Given the description of an element on the screen output the (x, y) to click on. 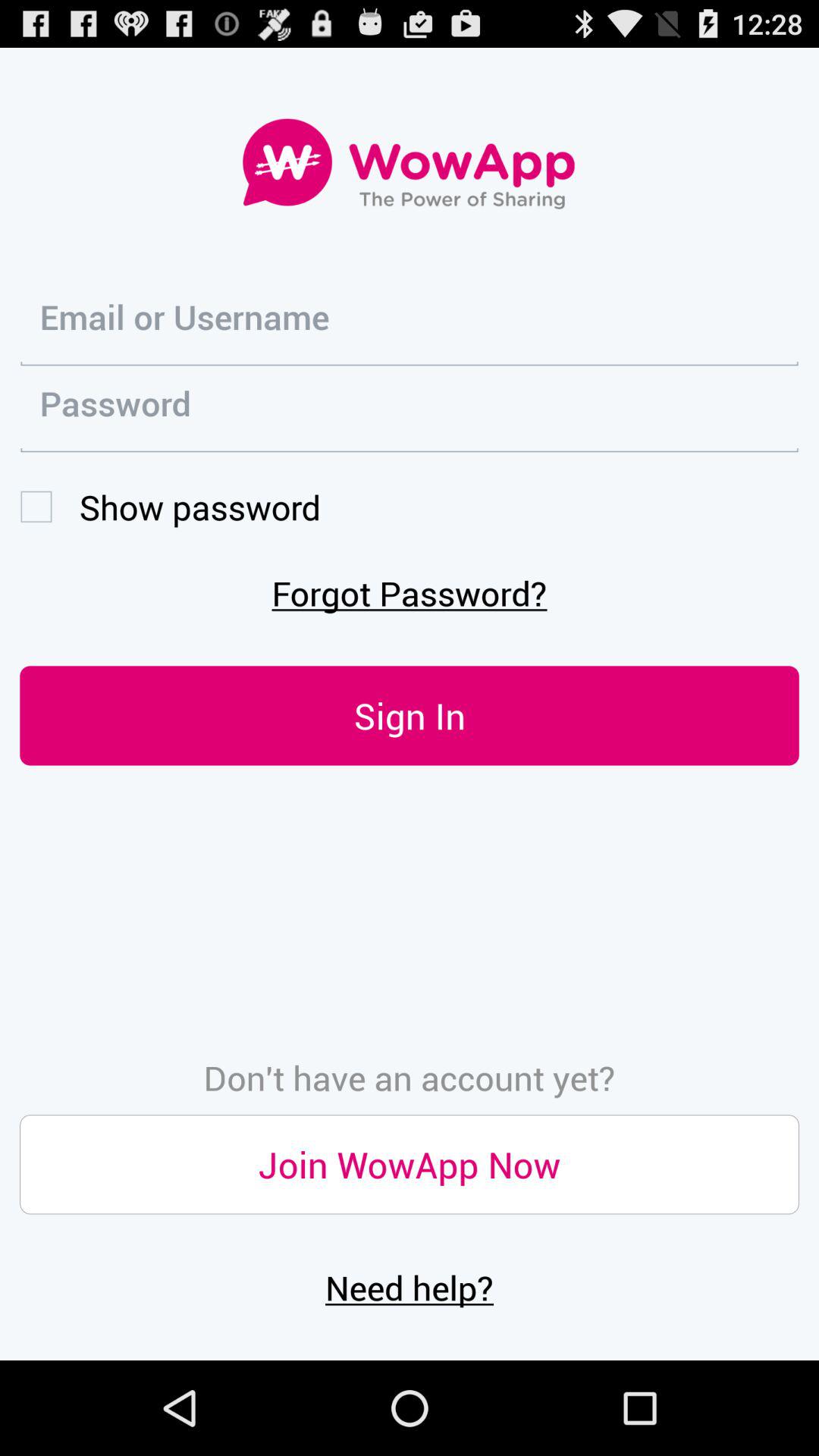
click the item above the need help? item (409, 1164)
